Given the description of an element on the screen output the (x, y) to click on. 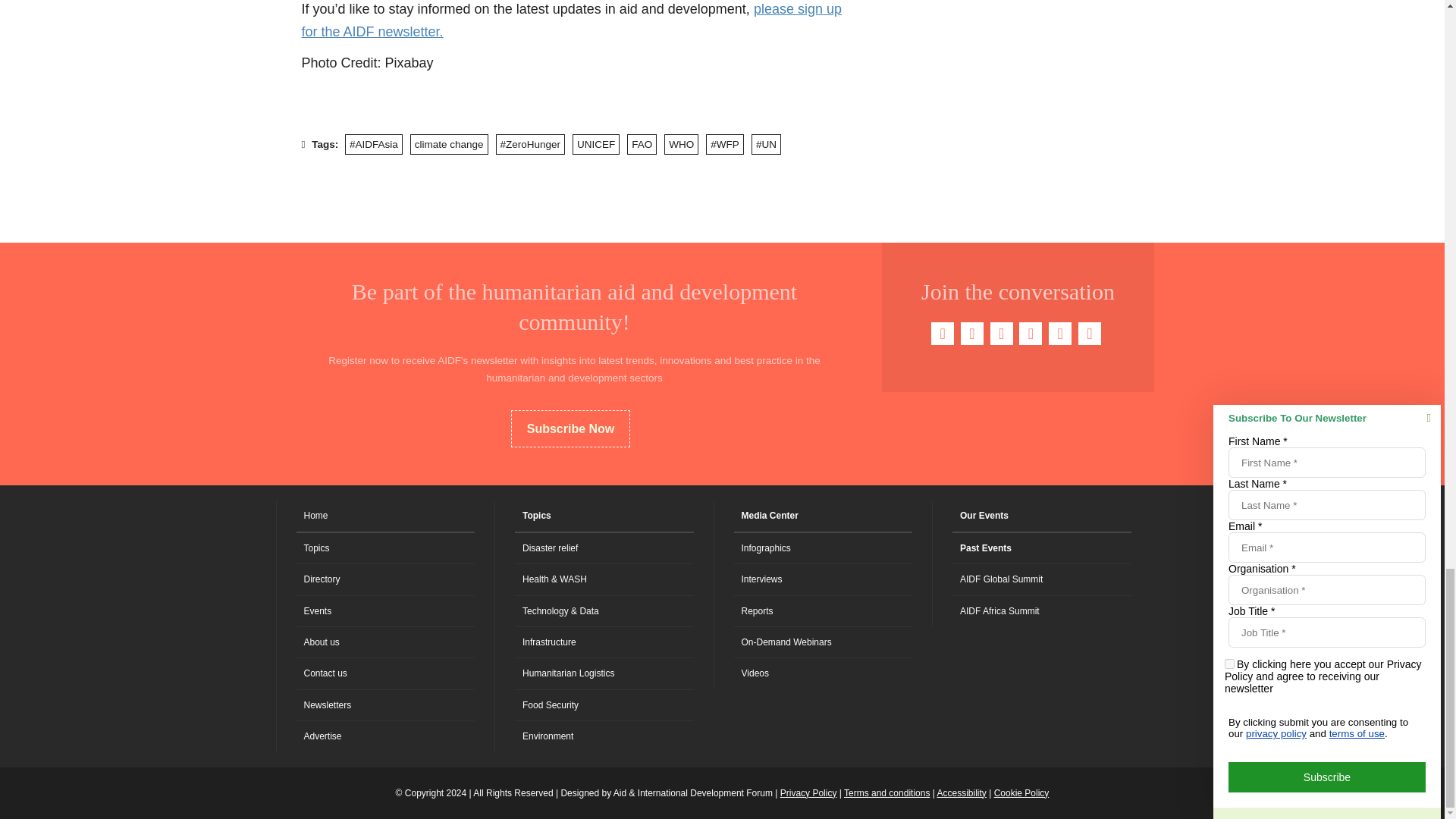
climate change (448, 144)
